Given the description of an element on the screen output the (x, y) to click on. 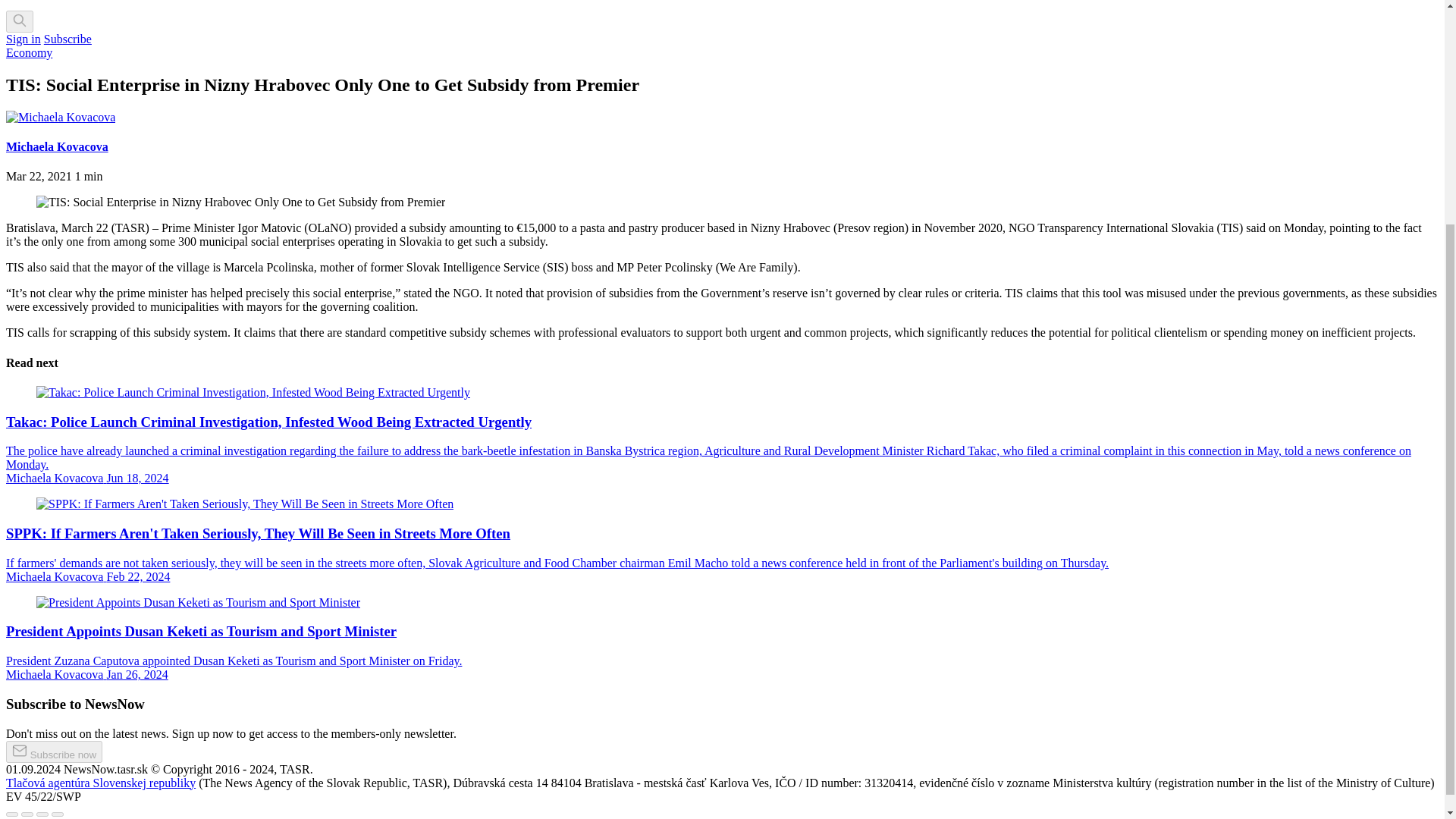
Michaela Kovacova (56, 146)
Economy (28, 51)
Toggle fullscreen (42, 814)
Share (27, 814)
Subscribe now (53, 751)
Subscribe (67, 38)
Sign in (22, 38)
